Given the description of an element on the screen output the (x, y) to click on. 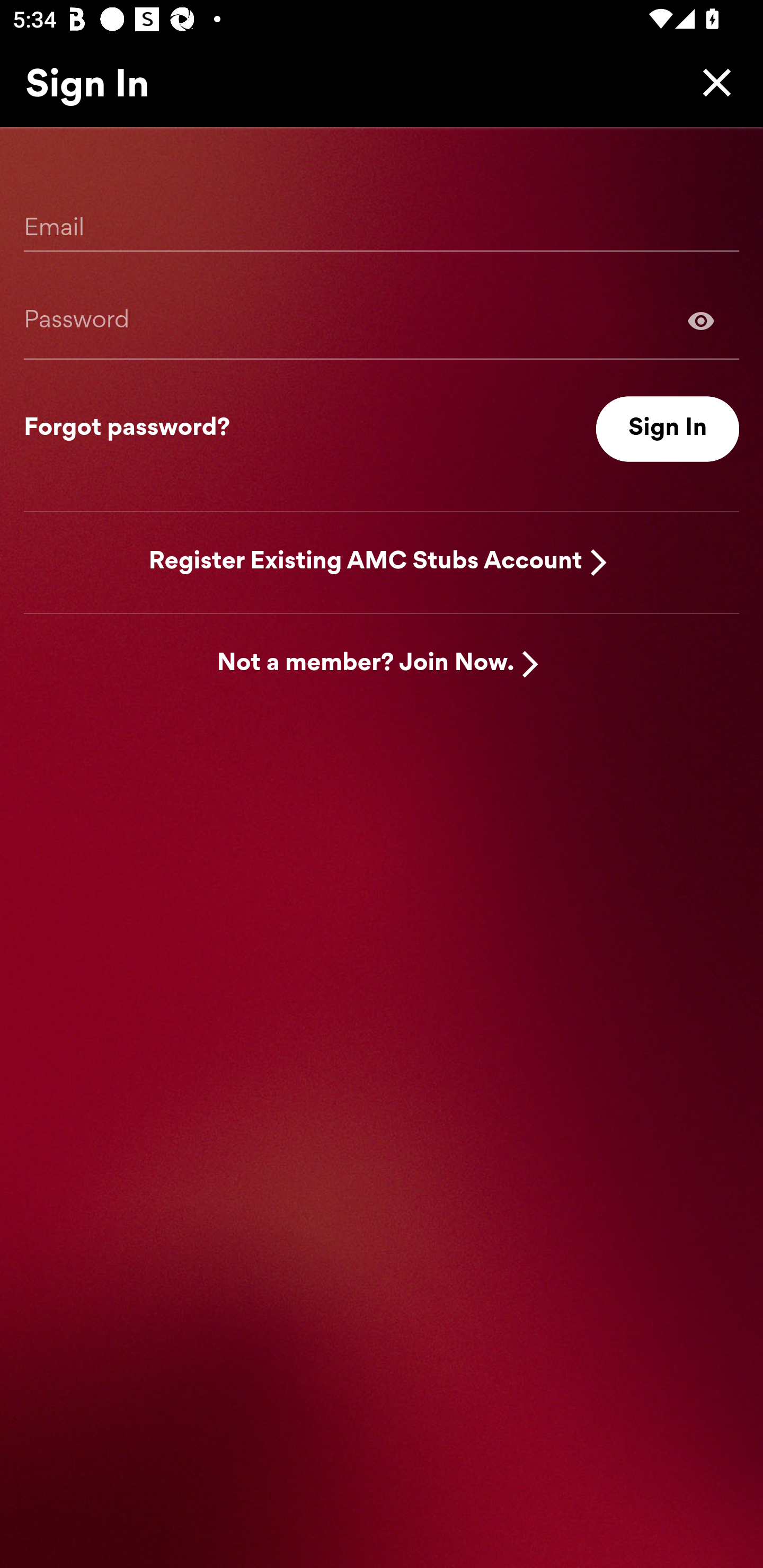
Close (712, 82)
Show Password (381, 320)
Show Password (701, 320)
Forgot password? (126, 428)
Sign In (667, 428)
Register Existing AMC Stubs Account (365, 561)
Not a member? Join Now. (365, 663)
